Given the description of an element on the screen output the (x, y) to click on. 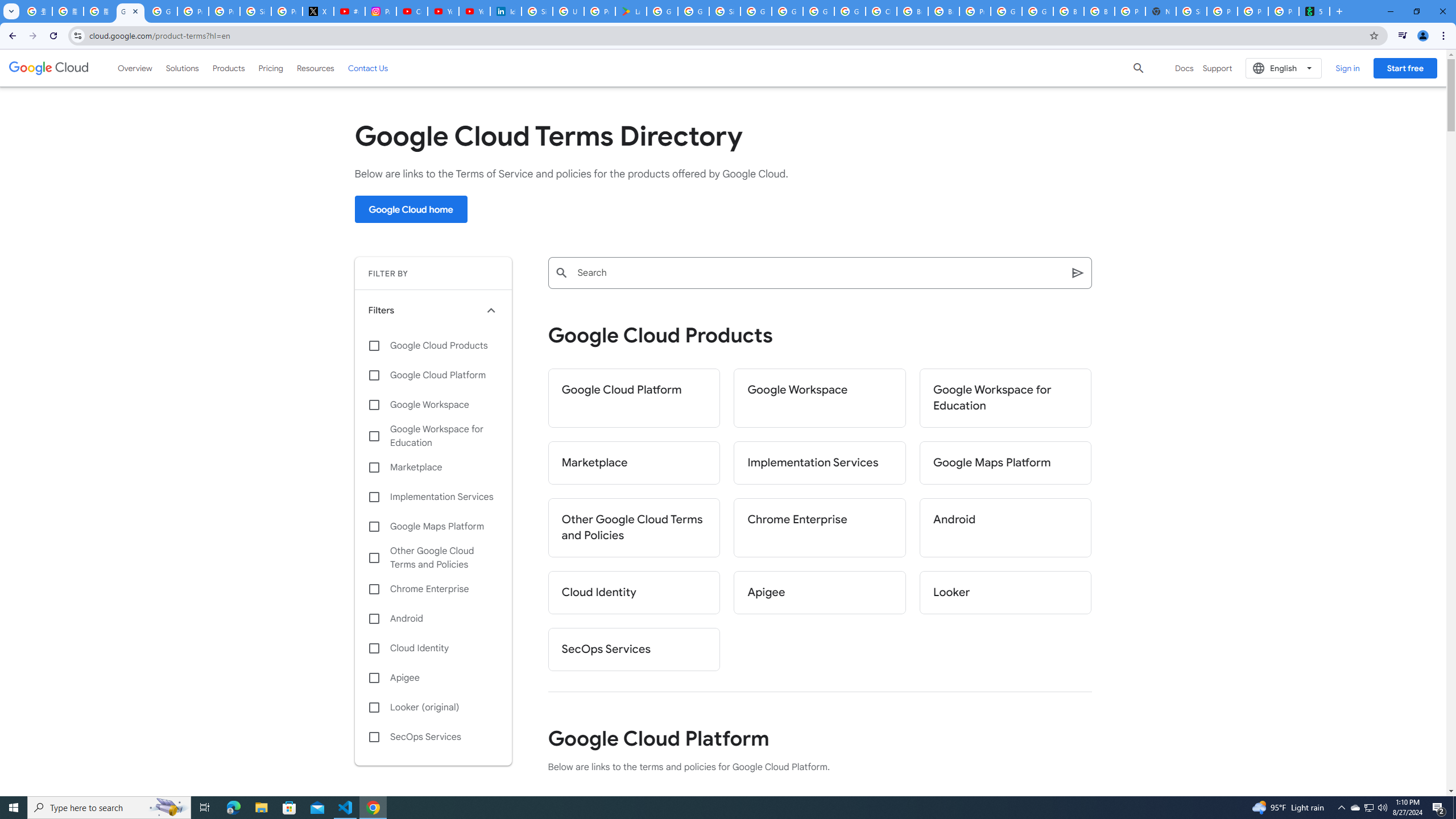
Google Cloud Platform (633, 397)
Other Google Cloud Terms and Policies (633, 527)
Cloud Identity (432, 648)
Marketplace (633, 462)
Looker (1005, 592)
Pricing (270, 67)
Google Cloud home (410, 208)
New Tab (1160, 11)
Other Google Cloud Terms and Policies (432, 557)
X (318, 11)
Android (1005, 527)
